Given the description of an element on the screen output the (x, y) to click on. 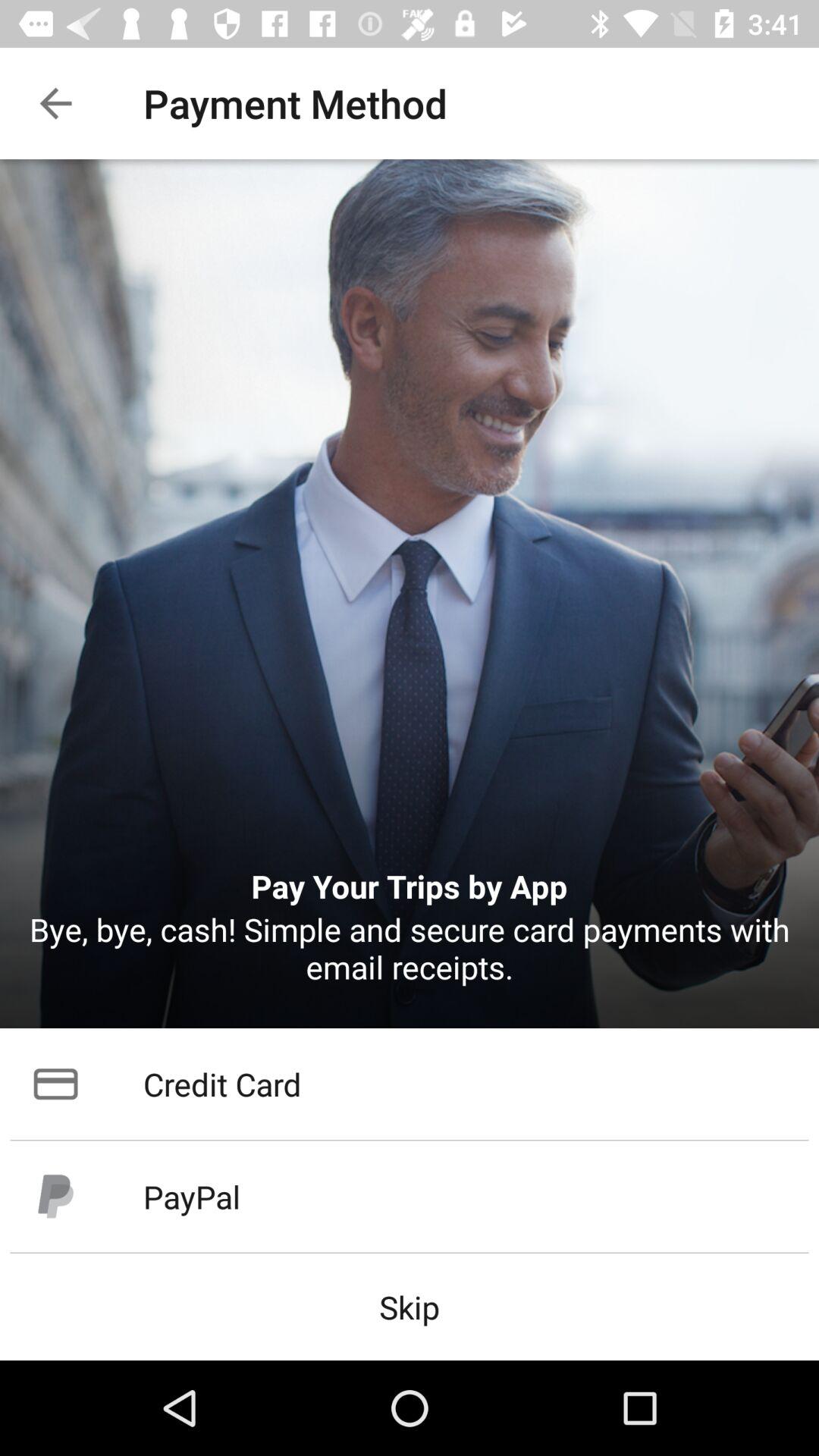
turn on icon at the top left corner (55, 103)
